Given the description of an element on the screen output the (x, y) to click on. 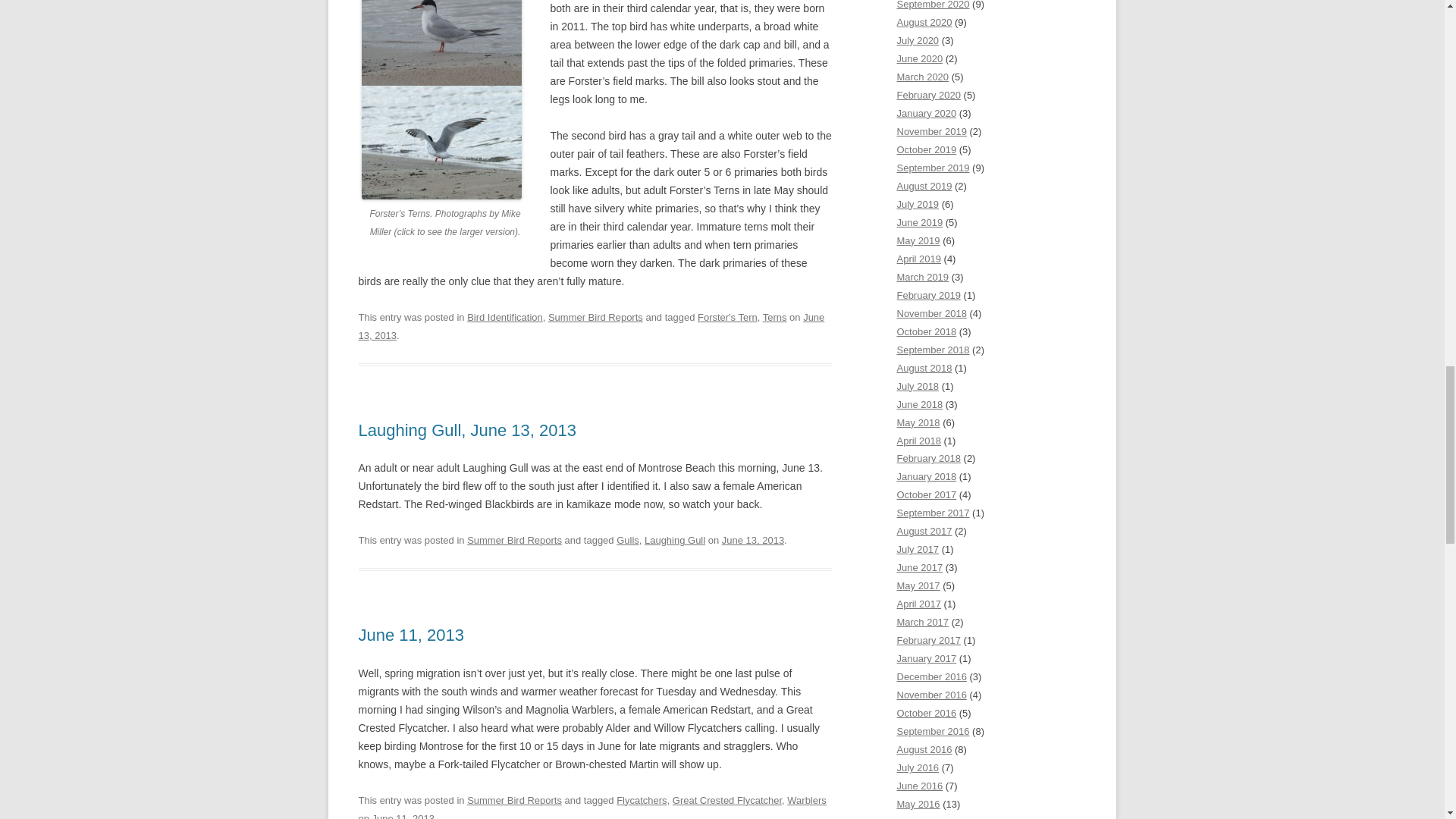
8:38 am (753, 540)
Bird Identification (505, 317)
9:23 am (591, 326)
Summer Bird Reports (595, 317)
9:12 am (402, 816)
